Given the description of an element on the screen output the (x, y) to click on. 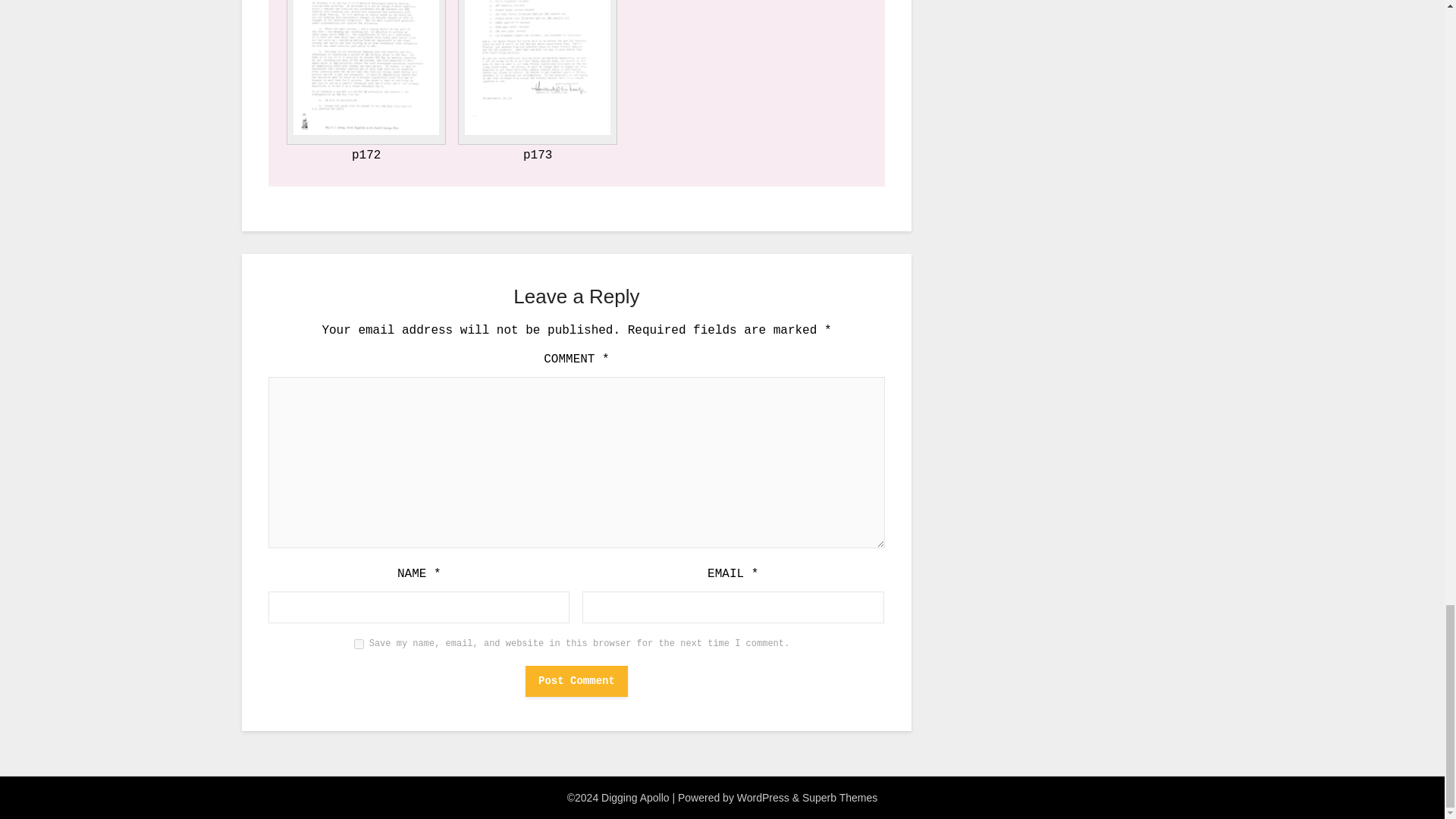
Post Comment (576, 680)
yes (358, 644)
Post Comment (576, 680)
